Given the description of an element on the screen output the (x, y) to click on. 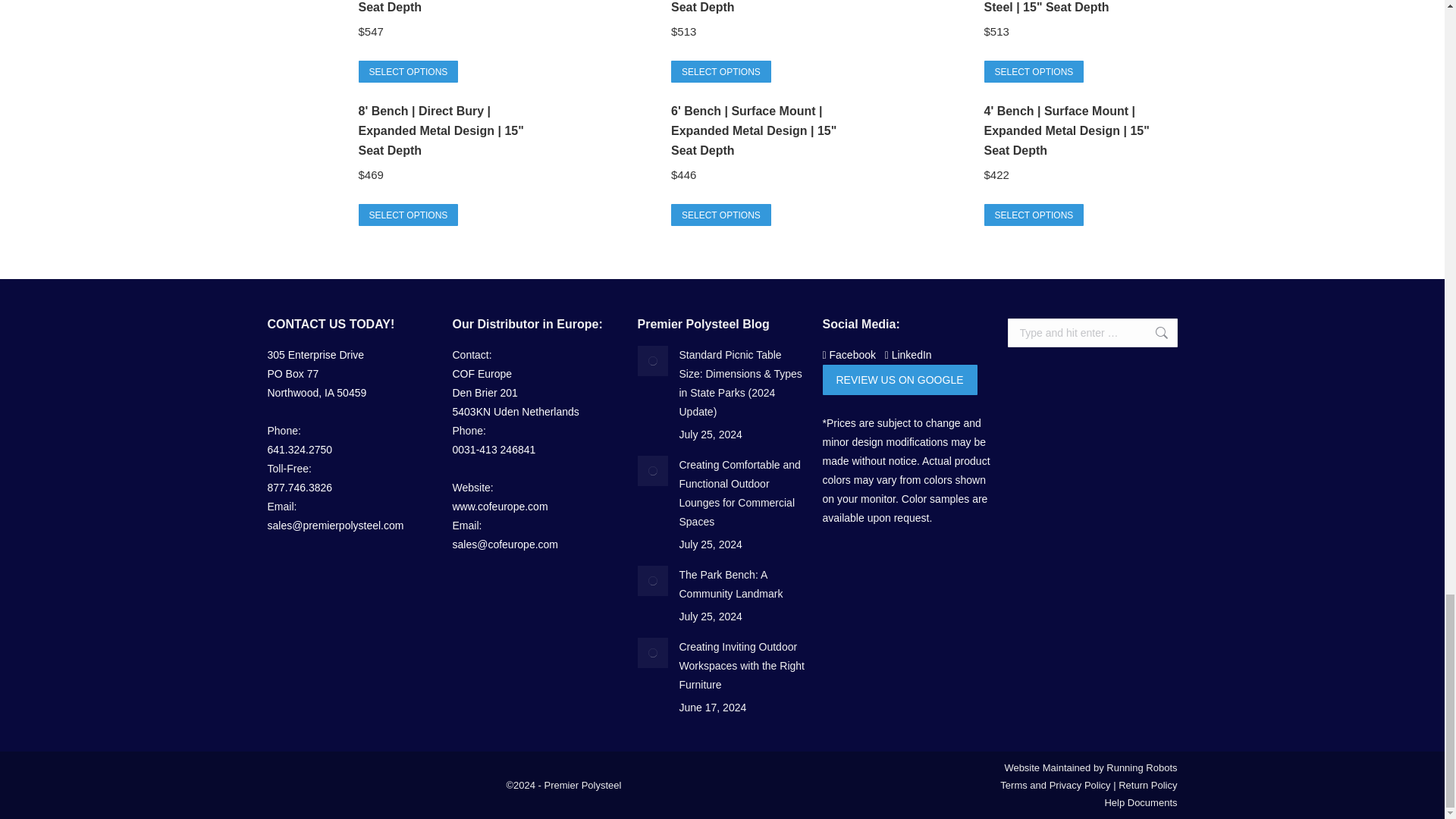
Go! (1153, 332)
Go! (1153, 332)
